Given the description of an element on the screen output the (x, y) to click on. 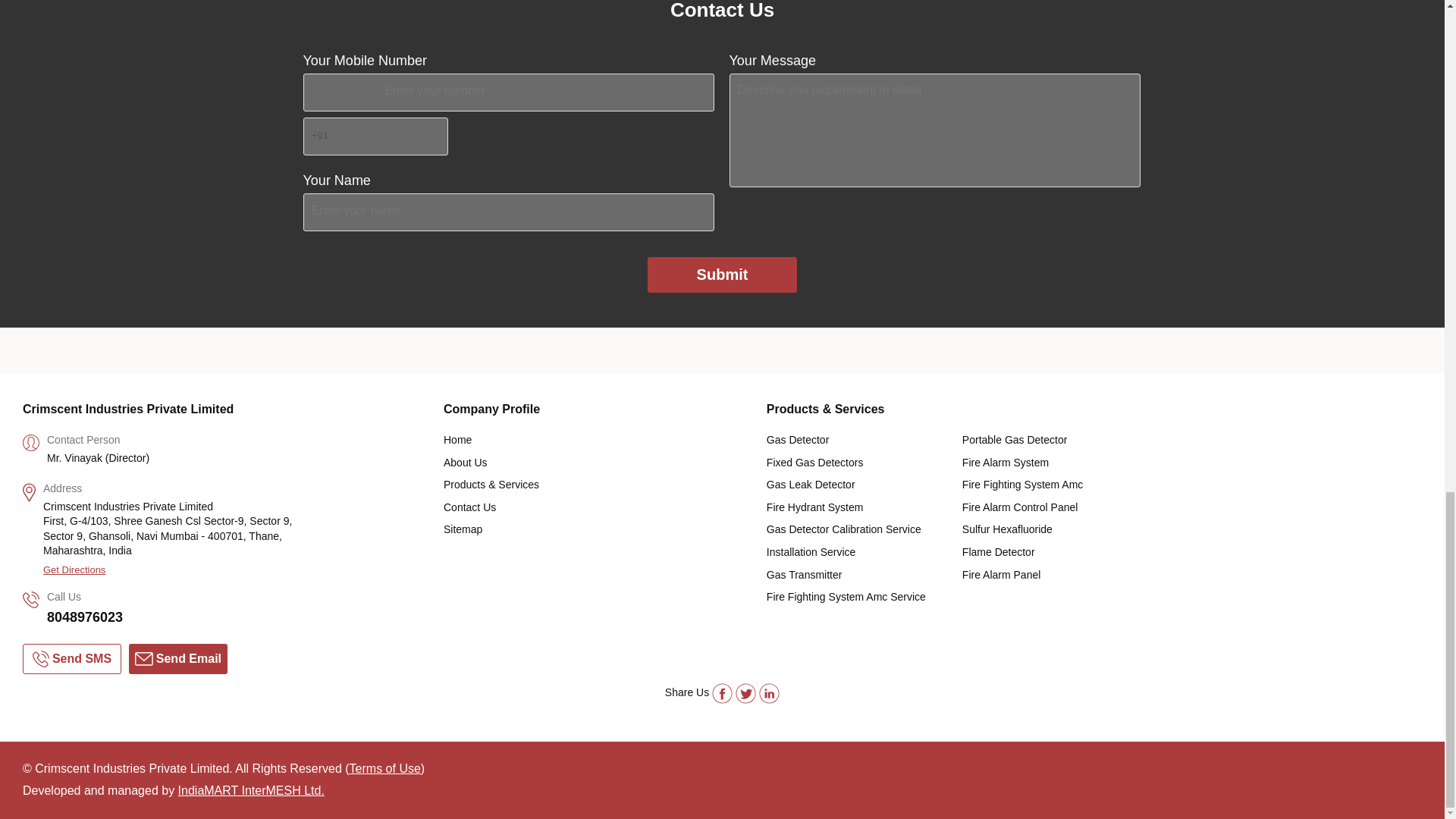
Submit (722, 274)
